Given the description of an element on the screen output the (x, y) to click on. 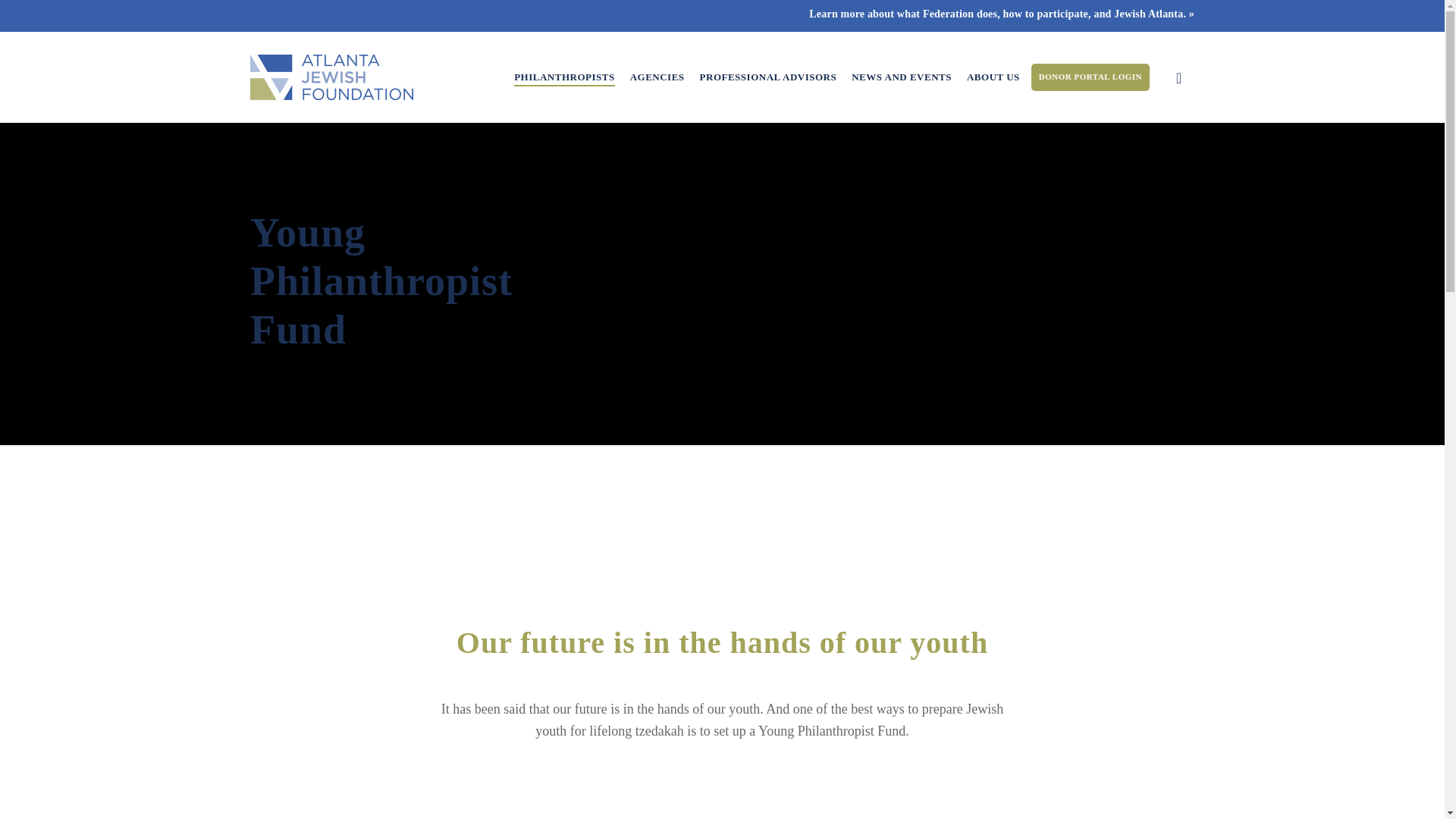
PHILANTHROPISTS (563, 77)
PROFESSIONAL ADVISORS (768, 77)
AGENCIES (657, 77)
ABOUT US (993, 77)
NEWS AND EVENTS (901, 77)
DONOR PORTAL LOGIN (1090, 76)
